Given the description of an element on the screen output the (x, y) to click on. 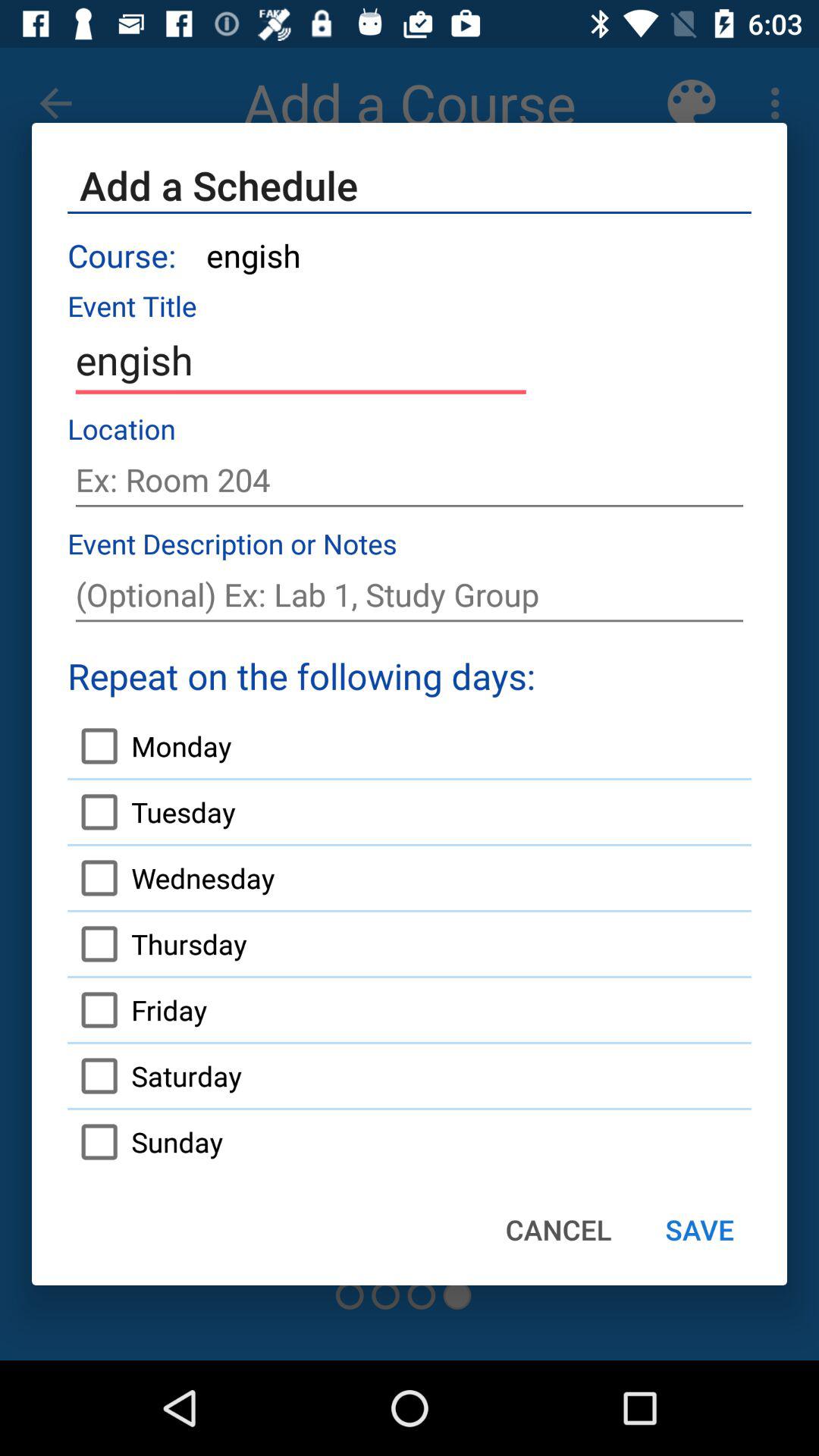
choose item to the left of save icon (558, 1229)
